Given the description of an element on the screen output the (x, y) to click on. 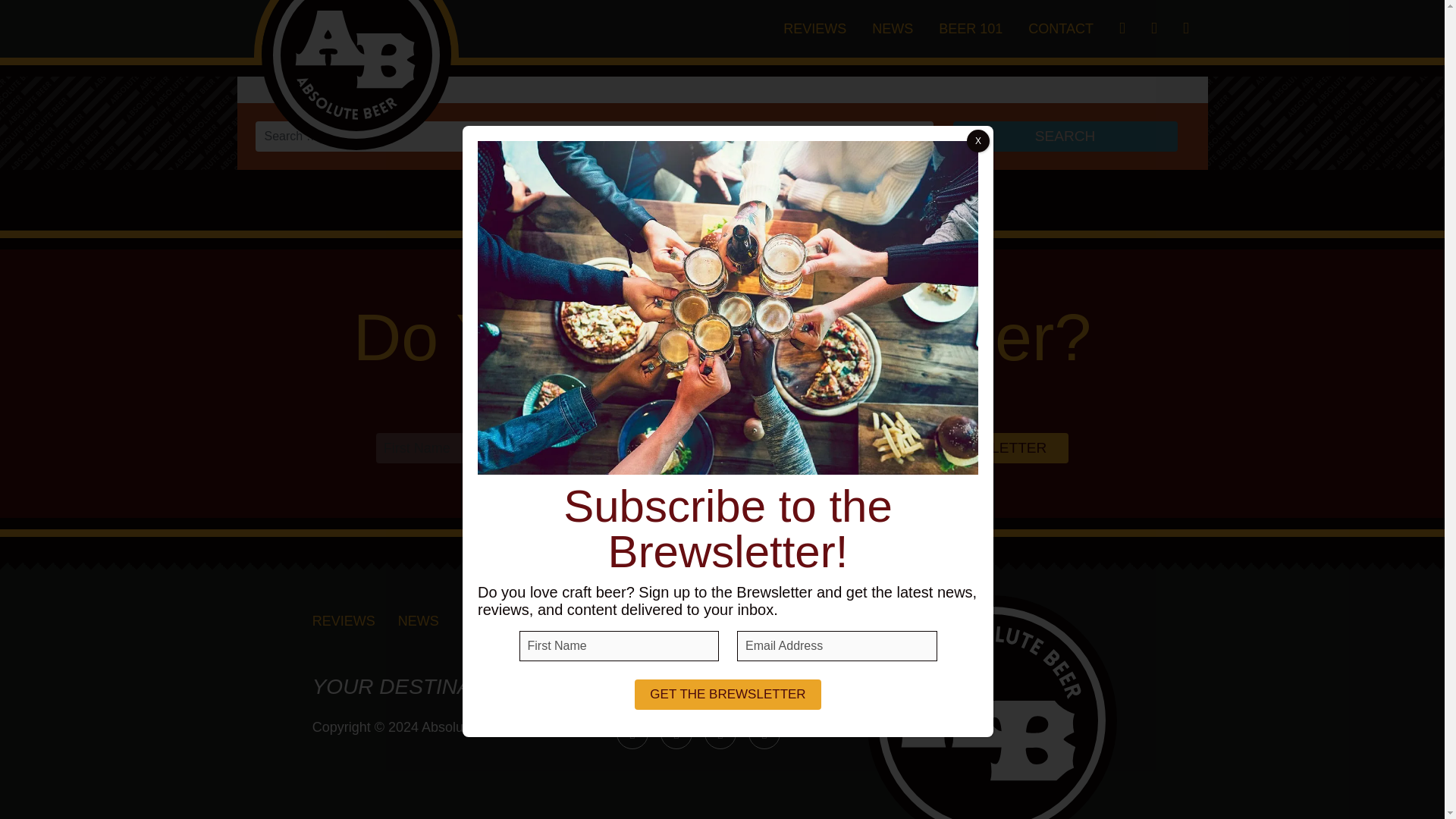
Search (1064, 136)
Get the Brewsletter (959, 448)
